Given the description of an element on the screen output the (x, y) to click on. 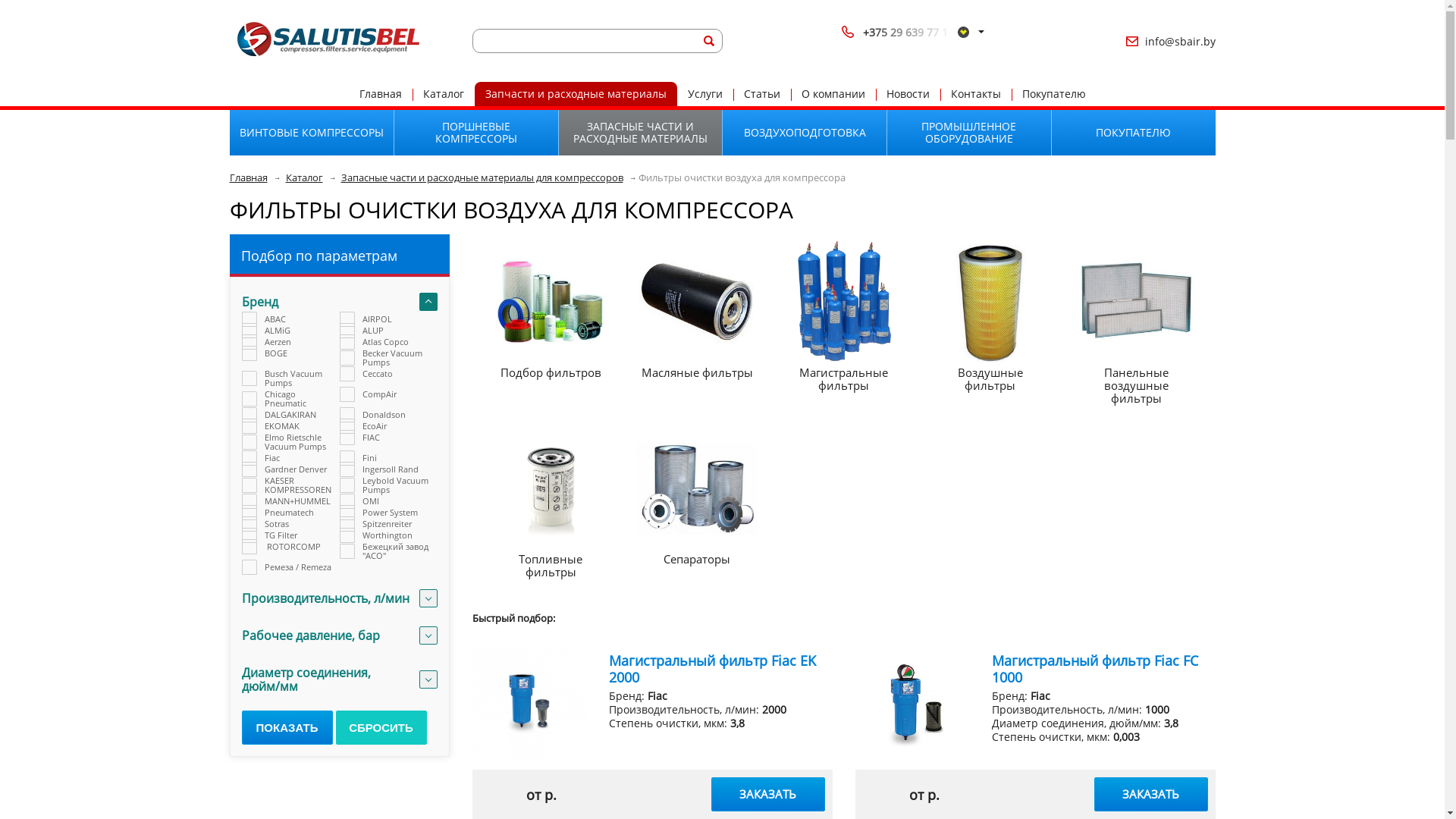
Y Element type: text (4, 4)
+375 29 639 77 1 Element type: text (907, 32)
info@sbair.by Element type: text (1180, 41)
